Given the description of an element on the screen output the (x, y) to click on. 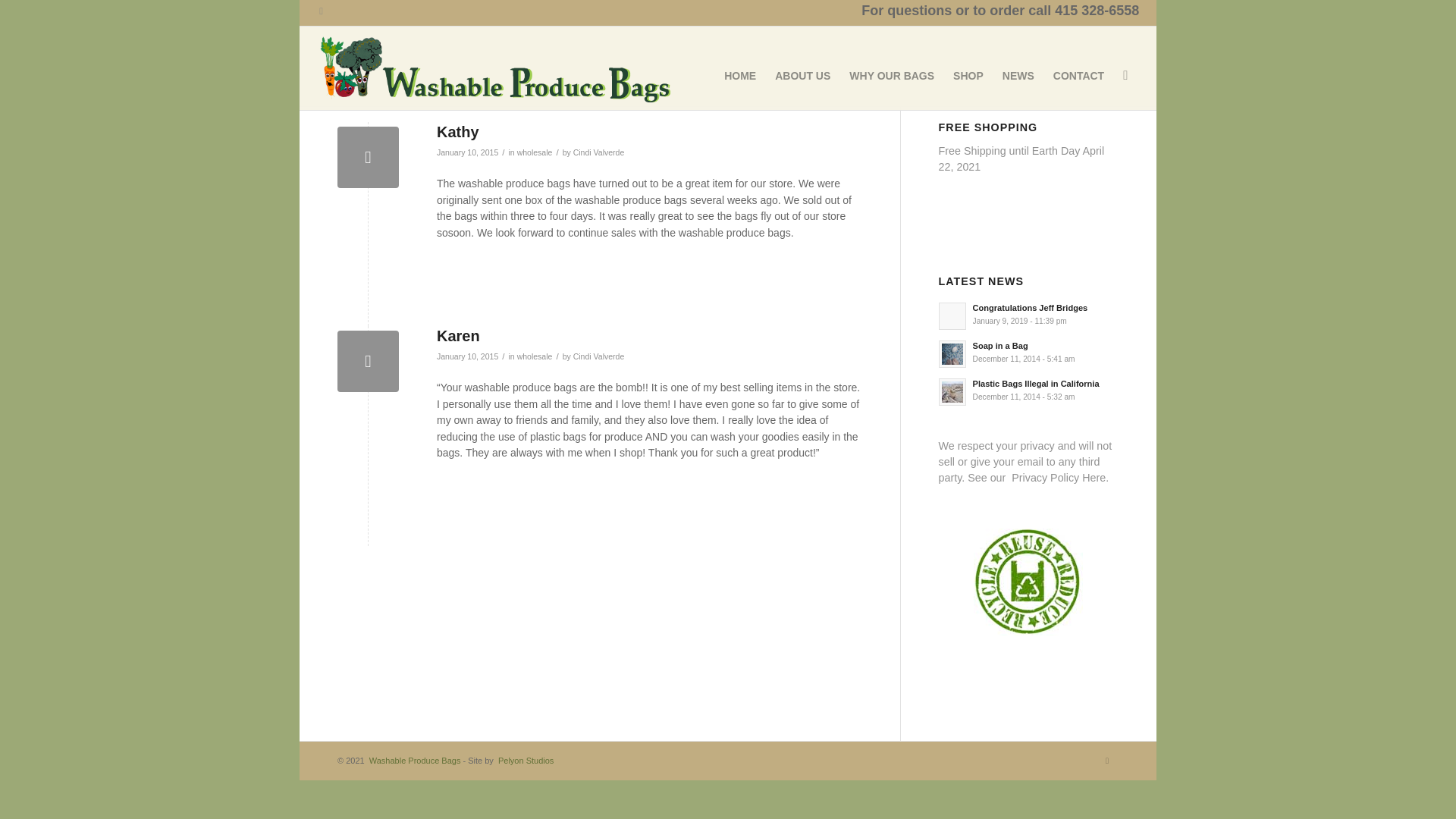
Karen (367, 361)
Permanent Link: Karen (458, 335)
wholesale (534, 356)
Kathy (457, 131)
logo-larger-char (493, 68)
wholesale (534, 152)
ABOUT US (804, 67)
 Washable Produce Bags (413, 759)
Facebook (321, 11)
Kathy (367, 157)
